Given the description of an element on the screen output the (x, y) to click on. 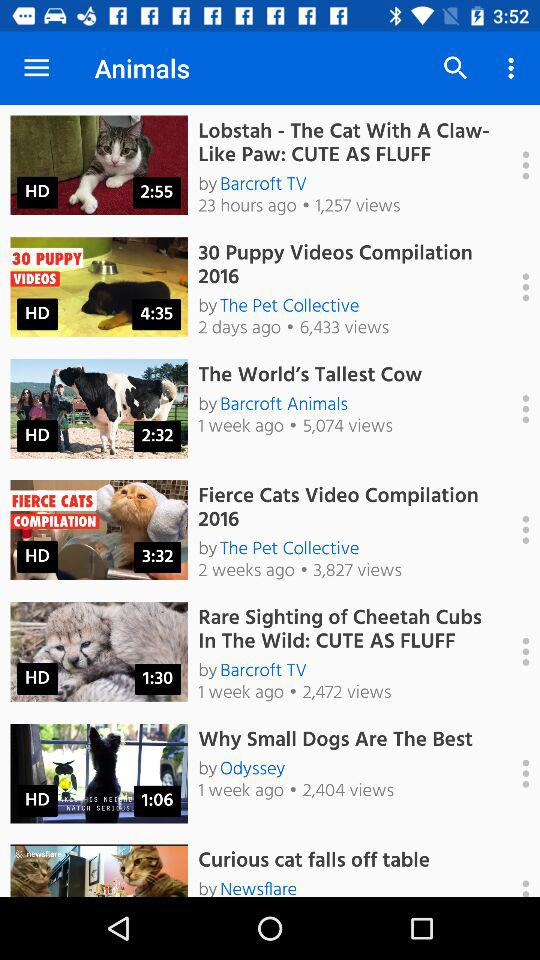
expant (515, 409)
